Given the description of an element on the screen output the (x, y) to click on. 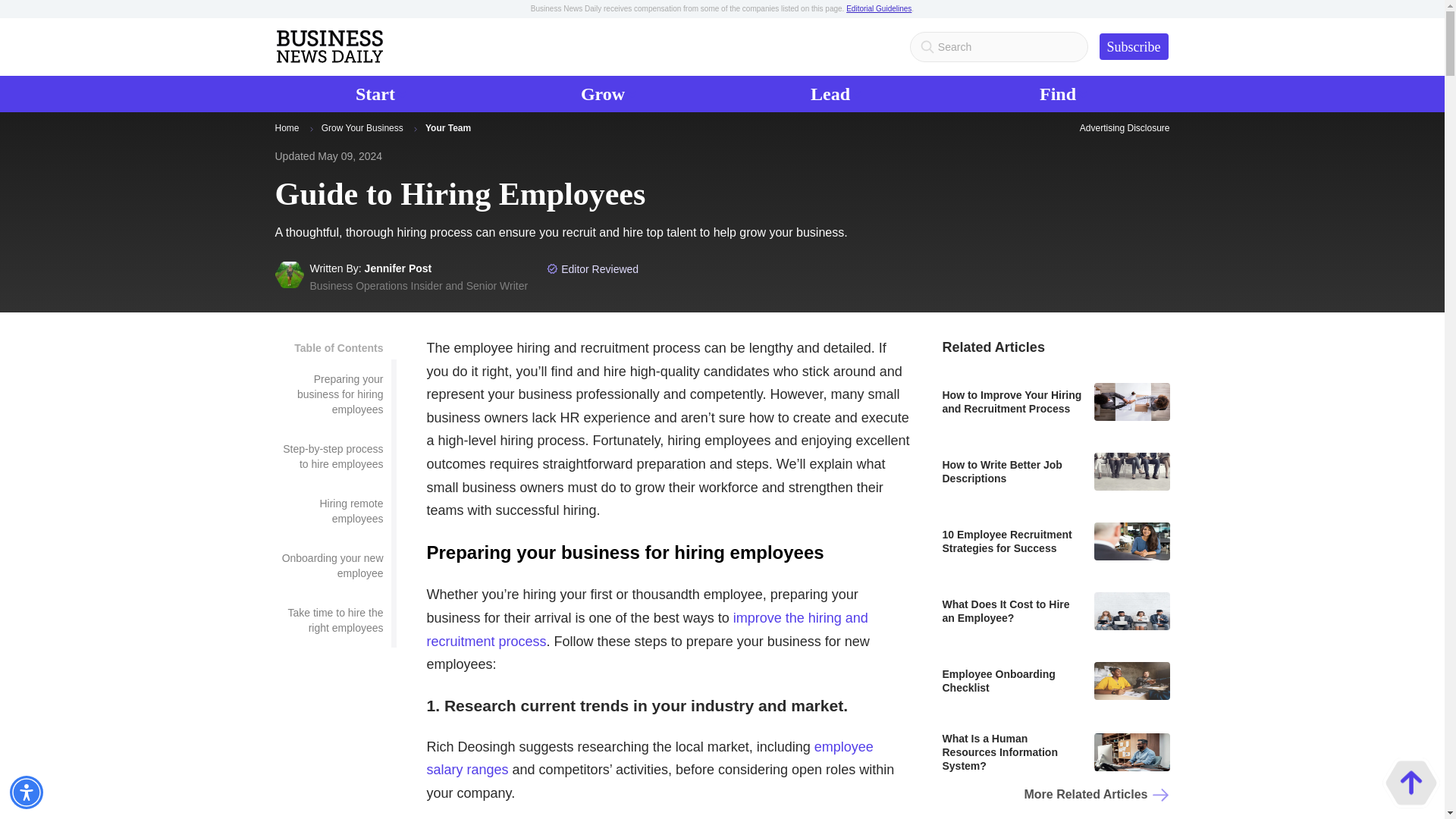
Accessibility Menu (26, 792)
Subscribe (1134, 46)
Arrow (414, 129)
Editorial Guidelines (878, 8)
Arrow (835, 94)
Verified Check With Border (311, 129)
